Given the description of an element on the screen output the (x, y) to click on. 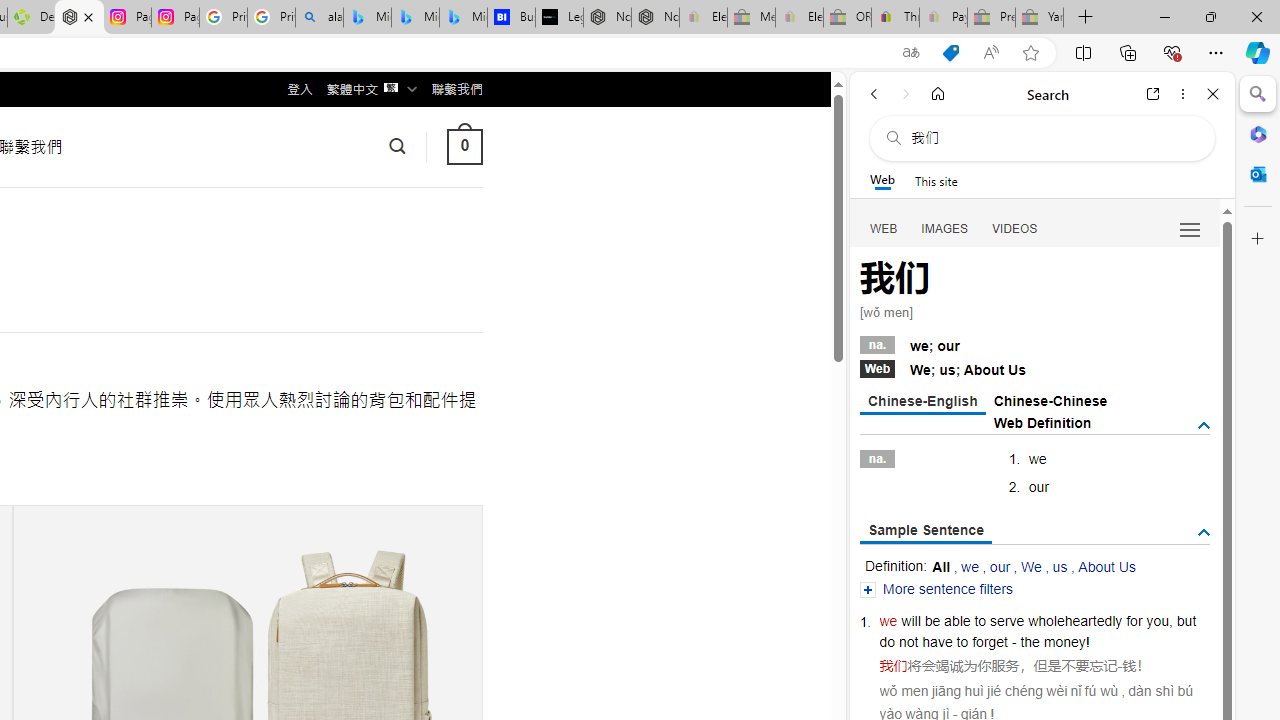
WebWe; us; About Us (1034, 367)
, (1170, 620)
WEB (884, 228)
but (1186, 620)
serve (1007, 620)
! (1087, 642)
About Us (1106, 566)
you (1157, 620)
